Given the description of an element on the screen output the (x, y) to click on. 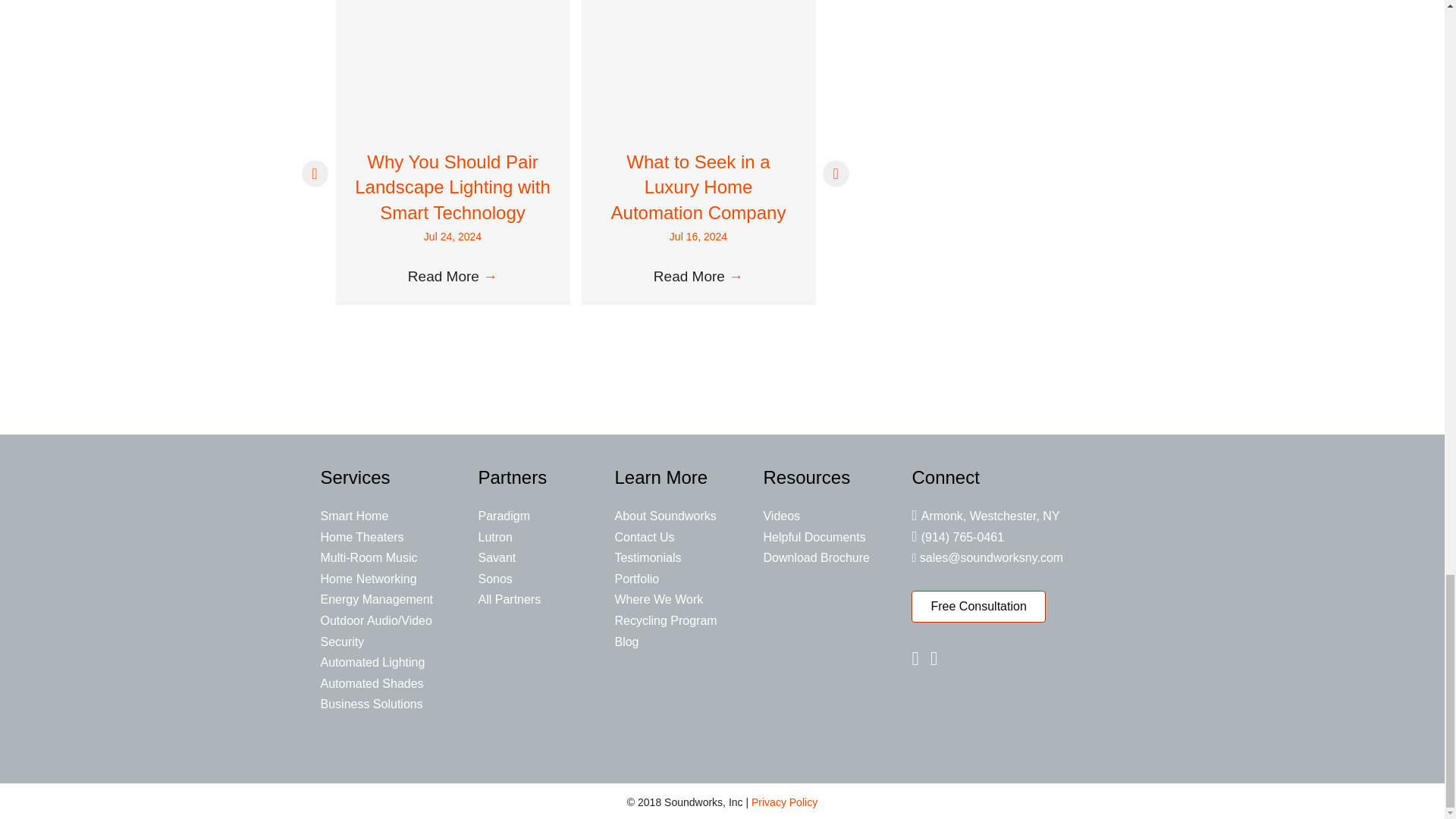
Read More (452, 276)
Why You Should Pair Landscape Lighting with Smart Technology (451, 50)
Read More (697, 276)
Why You Should Pair Landscape Lighting with Smart Technology (452, 186)
What to Seek in a Luxury Home Automation Company (698, 186)
What to Seek in a Luxury Home Automation Company (697, 50)
